Given the description of an element on the screen output the (x, y) to click on. 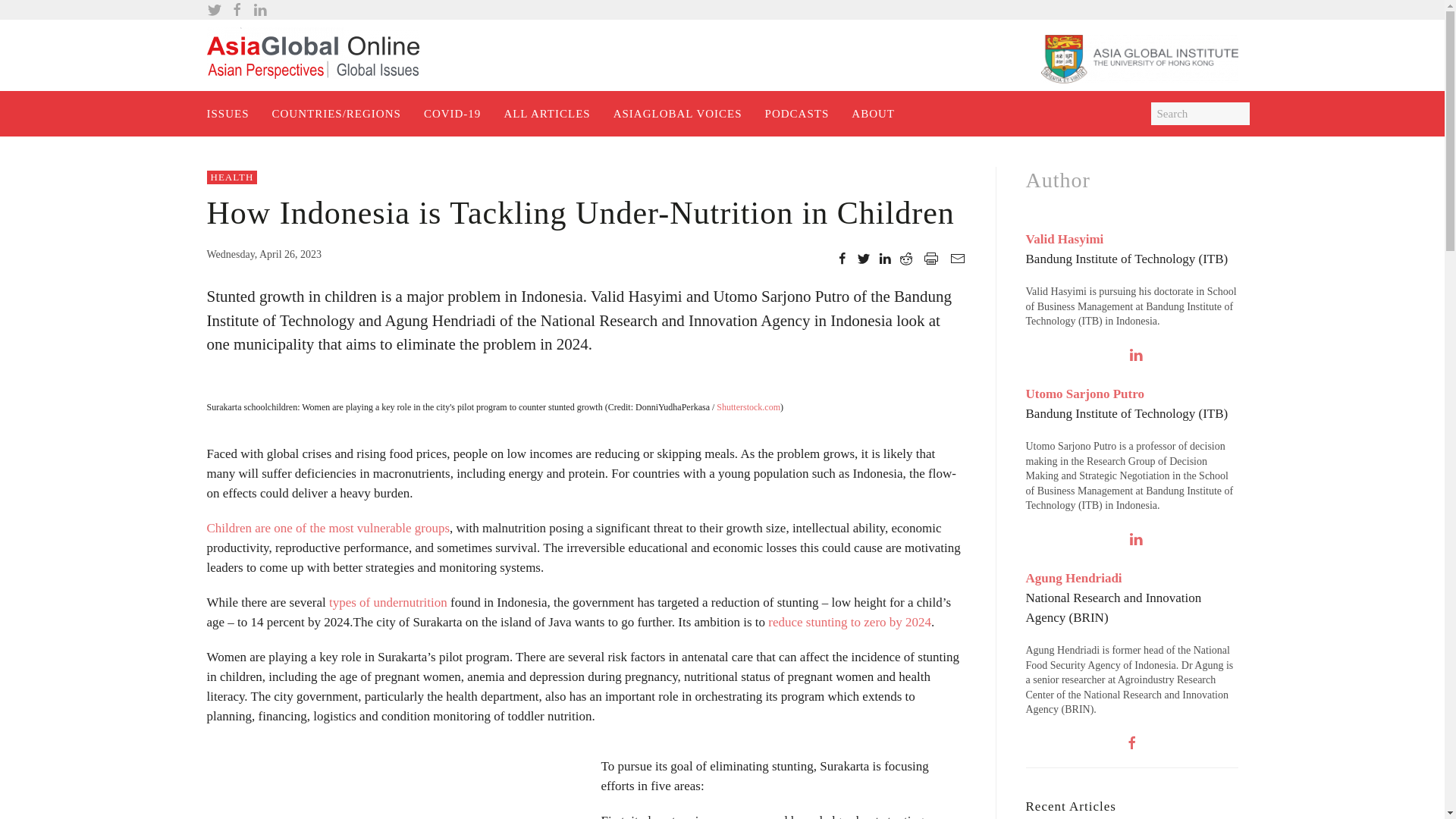
ABOUT (872, 113)
PODCASTS (797, 113)
ASIAGLOBAL VOICES (678, 113)
ISSUES (227, 113)
ALL ARTICLES (546, 113)
COVID-19 (452, 113)
